Given the description of an element on the screen output the (x, y) to click on. 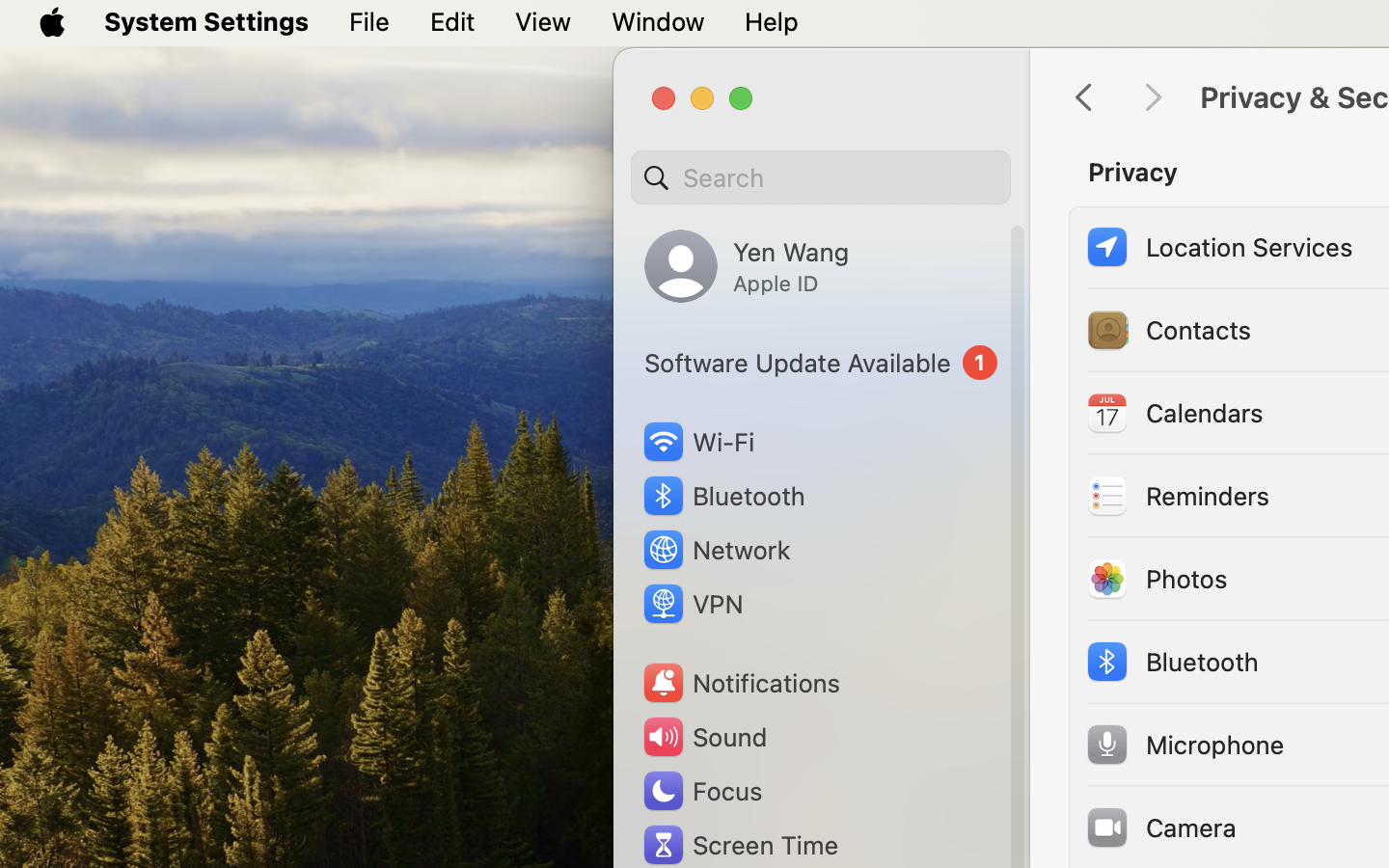
Focus Element type: AXStaticText (701, 790)
Sound Element type: AXStaticText (703, 736)
Network Element type: AXStaticText (715, 549)
Screen Time Element type: AXStaticText (739, 844)
